Given the description of an element on the screen output the (x, y) to click on. 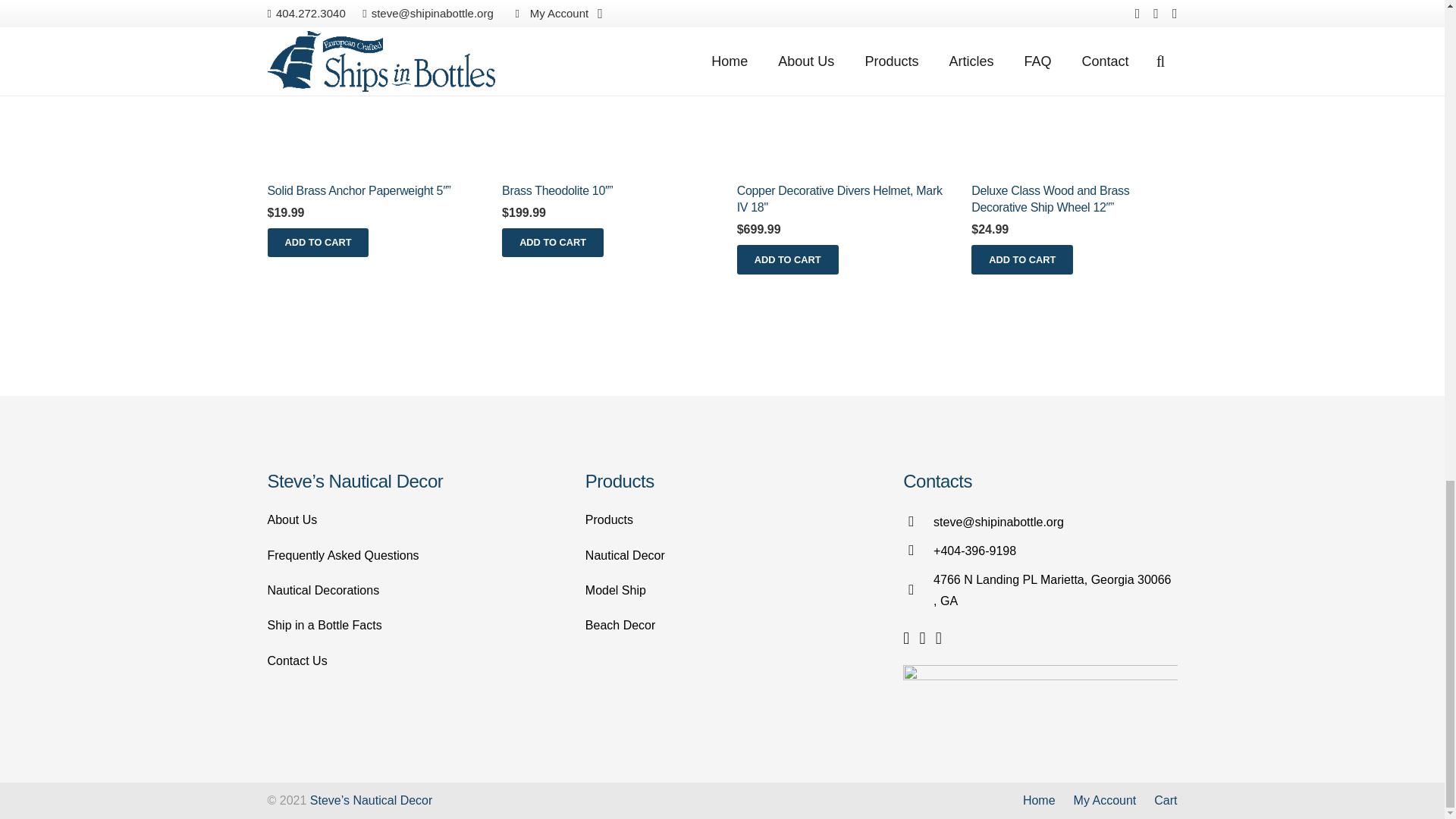
ADD TO CART (317, 242)
ADD TO CART (553, 242)
